Given the description of an element on the screen output the (x, y) to click on. 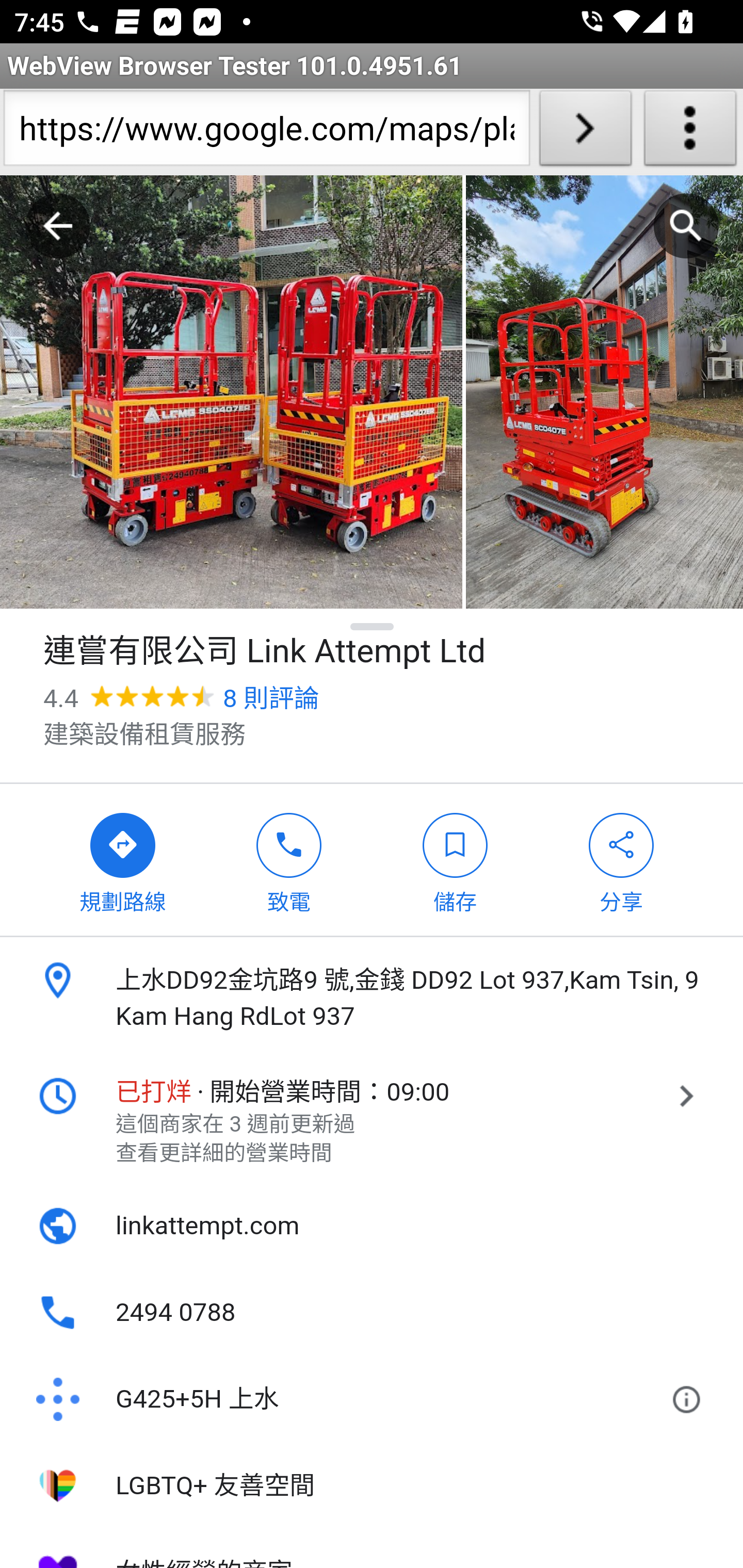
Load URL (585, 132)
About WebView (690, 132)
第 1 張相片 (共 9 張) (231, 392)
第 2 張相片 (共 9 張) (604, 392)
返回 (58, 226)
搜尋 (686, 226)
隱藏詳細資訊 (372, 626)
4.4 星級 8 則評論 (181, 698)
前往連嘗有限公司 Link Attempt Ltd的路線 (123, 858)
致電「連嘗有限公司 Link Attempt Ltd」  致電 (289, 858)
將「連嘗有限公司 Link Attempt Ltd」儲存至清單中 (454, 858)
分享「連嘗有限公司 Link Attempt Ltd」 (621, 858)
已打烊 ⋅ 開始營業時間：09:00·查看更詳細的營業時間 (371, 1120)
網站: linkattempt.com  linkattempt.com (371, 1226)
電話號碼: 2494 0788  2494 0788 (371, 1313)
Plus Code: G425+5H 上水 (345, 1400)
進一步瞭解 Plus Codes (690, 1400)
